Given the description of an element on the screen output the (x, y) to click on. 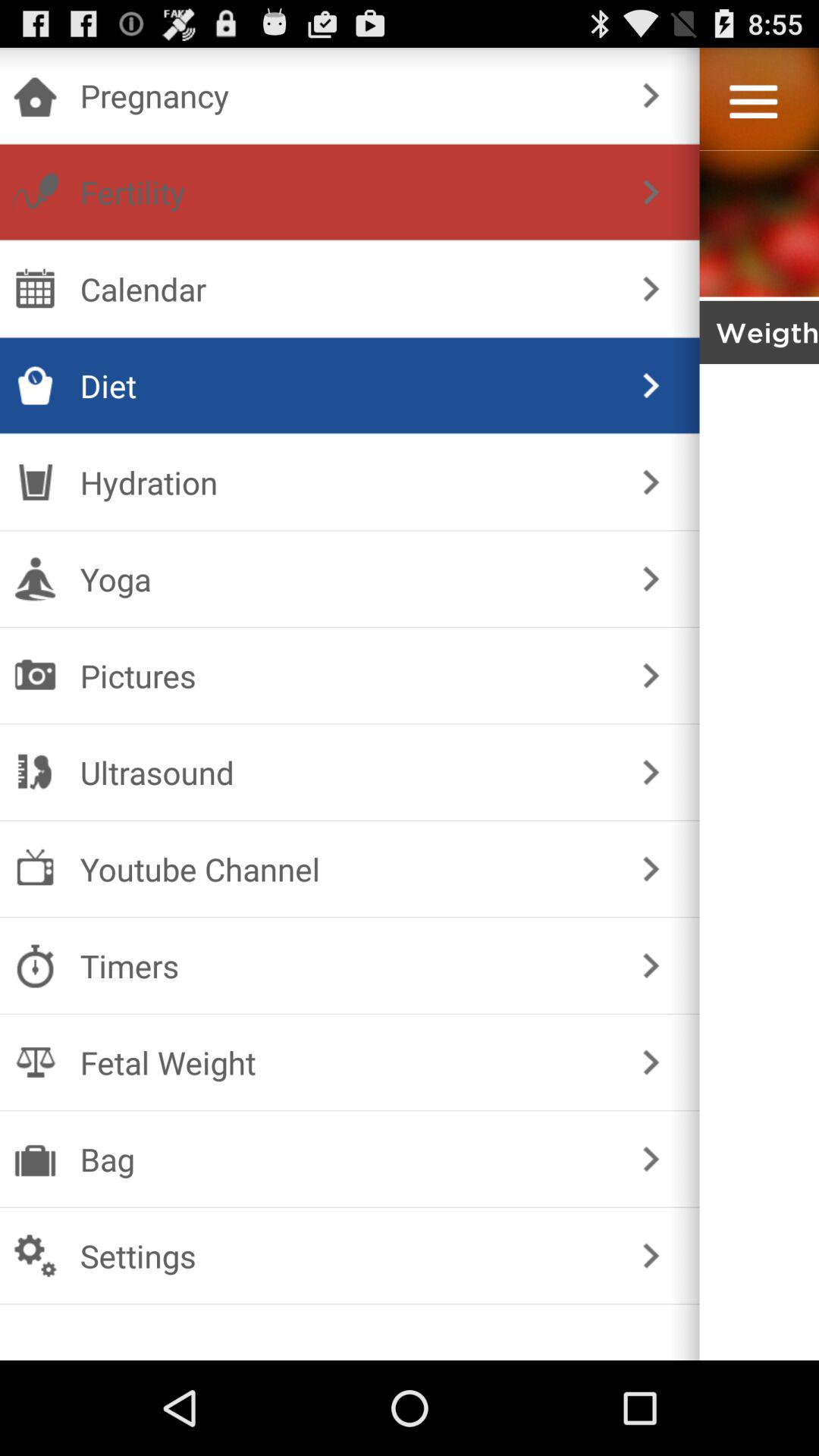
toggle main menu (753, 101)
